Given the description of an element on the screen output the (x, y) to click on. 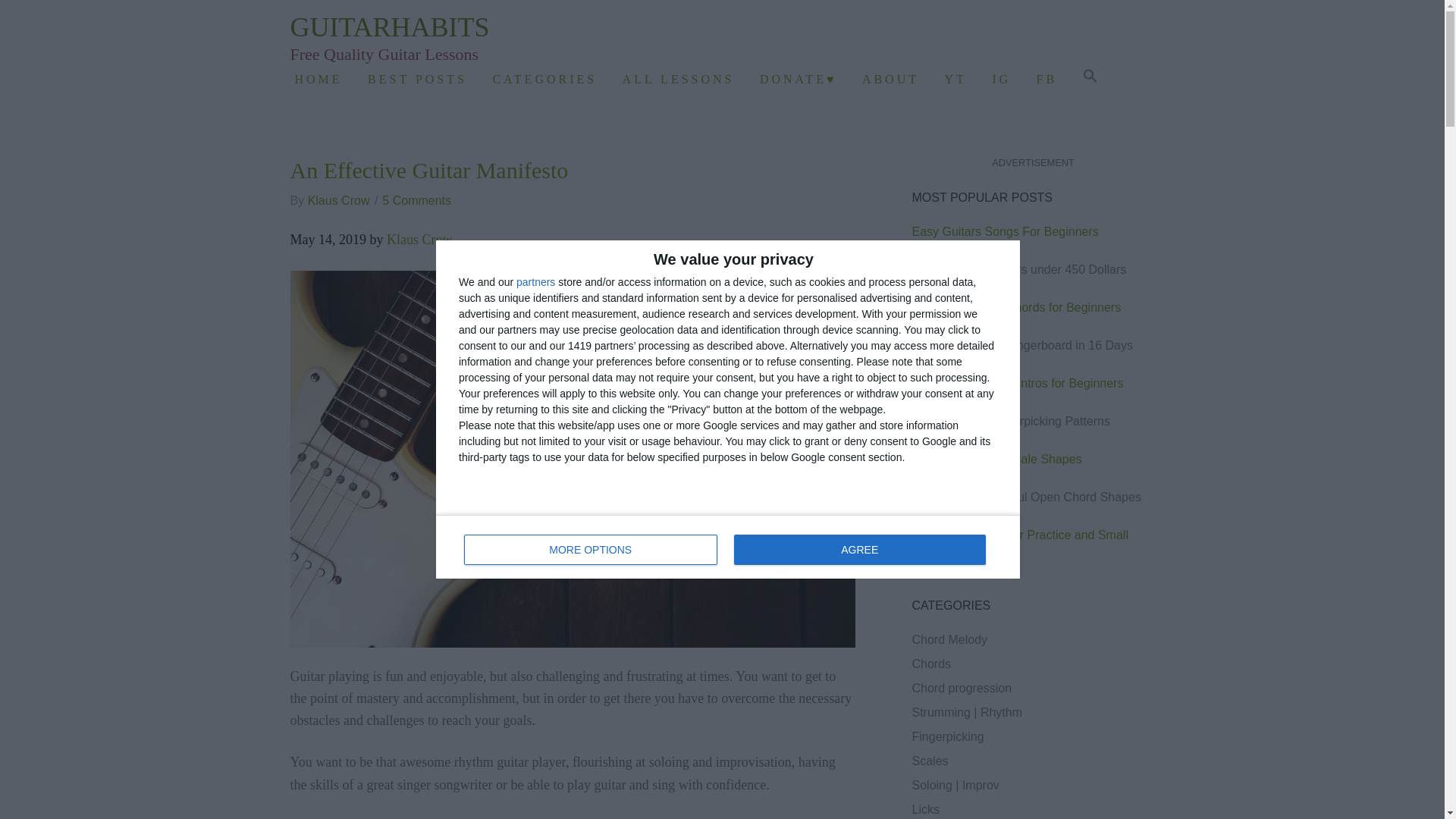
ALL LESSONS (684, 79)
HOME (324, 79)
GUITARHABITS (389, 27)
The 5 Pentatonic Scale Shapes (996, 459)
5 Comments (416, 200)
FB (1053, 79)
IG (1007, 79)
partners (535, 281)
ABOUT (896, 79)
Learn The Guitar Fingerboard in 16 Days (1021, 345)
